Given the description of an element on the screen output the (x, y) to click on. 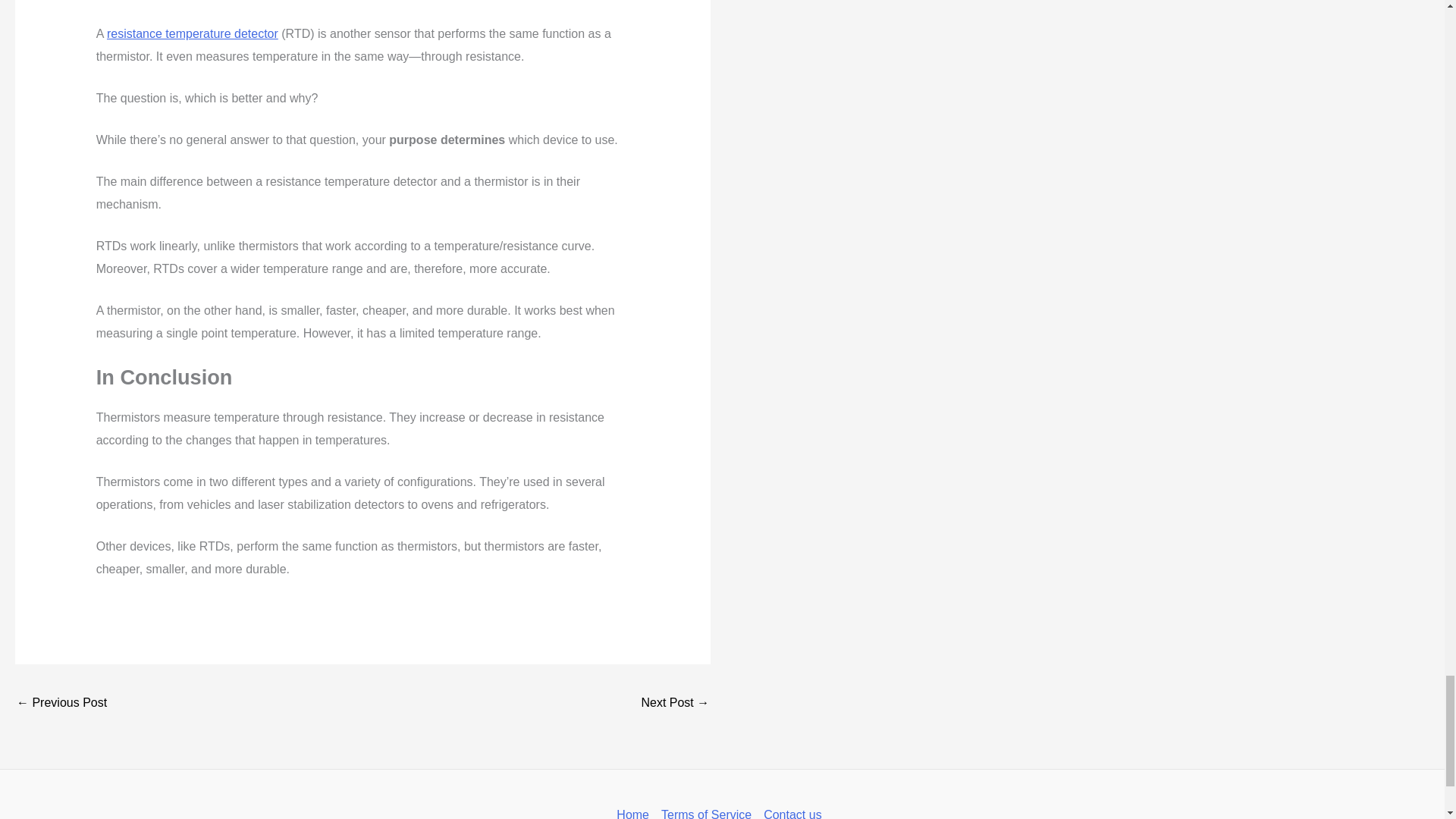
Terms of Service (706, 811)
Contact us (792, 811)
Home (635, 811)
resistance temperature detector (192, 33)
